Given the description of an element on the screen output the (x, y) to click on. 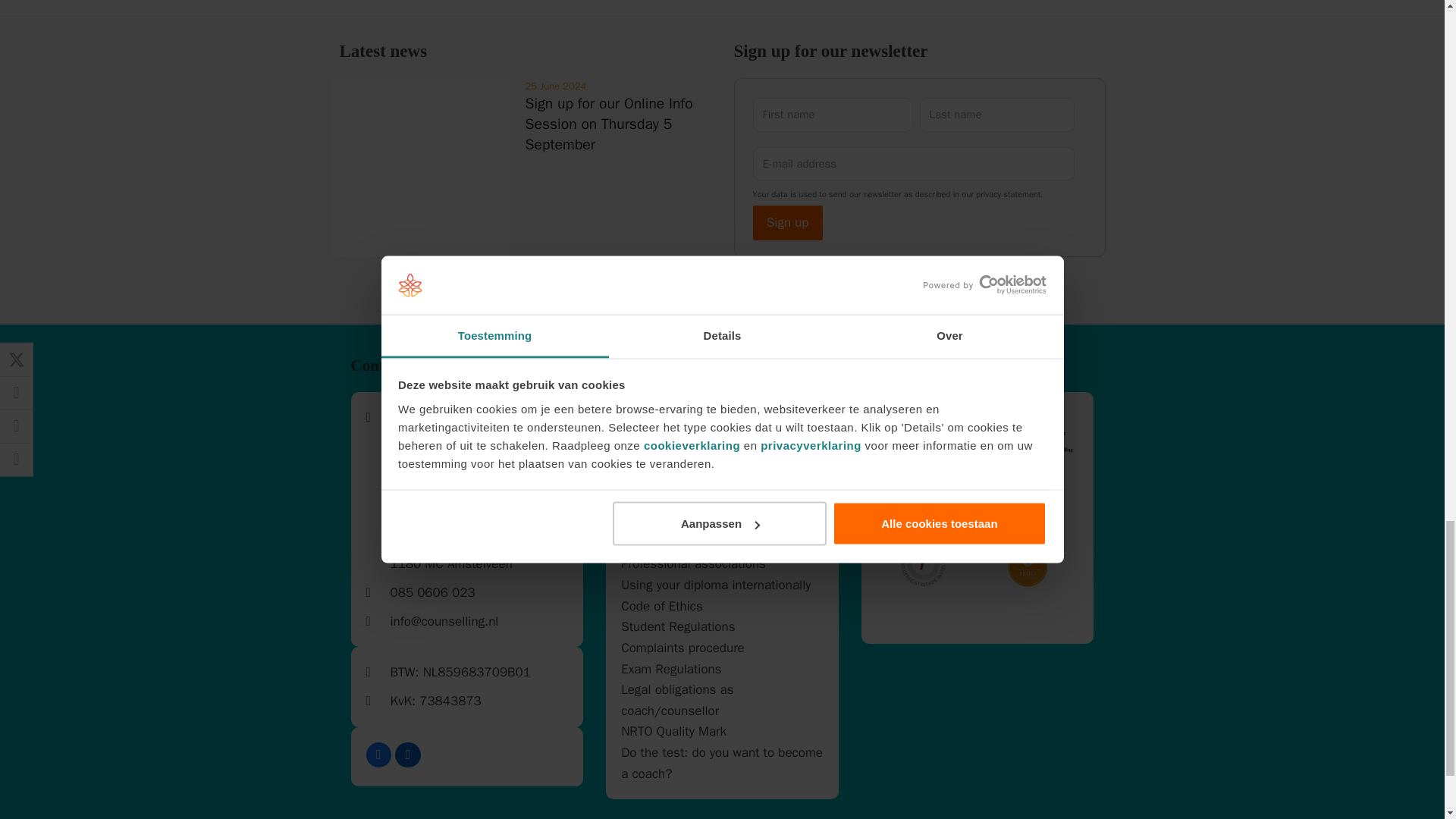
Facebook (378, 755)
Sign up for our Online Info Session on Thursday 5 September (421, 251)
Sign up (787, 222)
LinkedIn (407, 755)
